Given the description of an element on the screen output the (x, y) to click on. 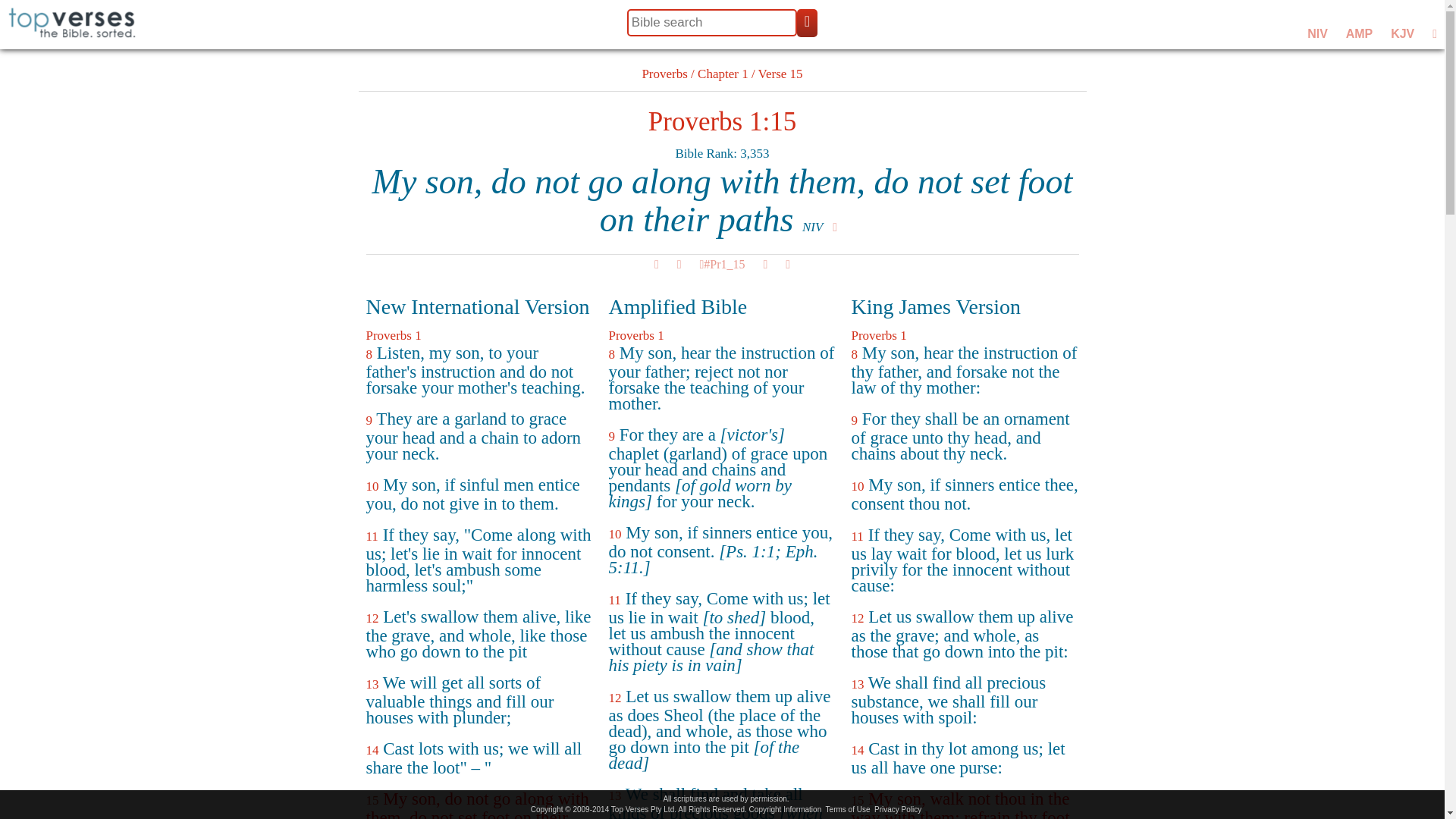
Proverbs (664, 73)
Privacy Policy (898, 809)
Terms of Use (847, 809)
Chapter 1 (722, 73)
Tweet (721, 263)
NIV (812, 227)
Verse 15 (780, 73)
Proverbs 1:15 (721, 121)
10 (371, 486)
Copyright Information (785, 809)
